Given the description of an element on the screen output the (x, y) to click on. 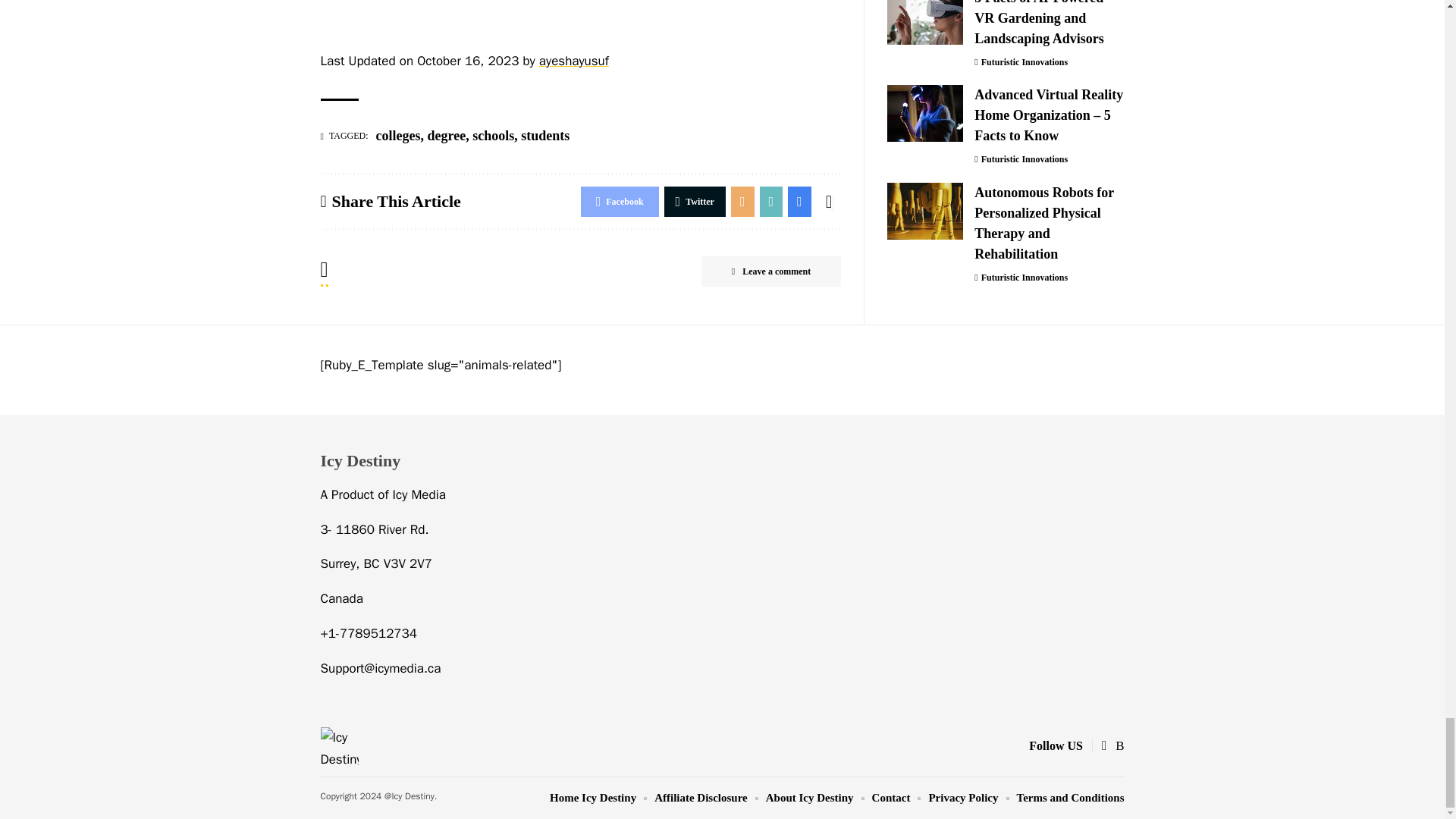
Icy Destiny (339, 745)
